Given the description of an element on the screen output the (x, y) to click on. 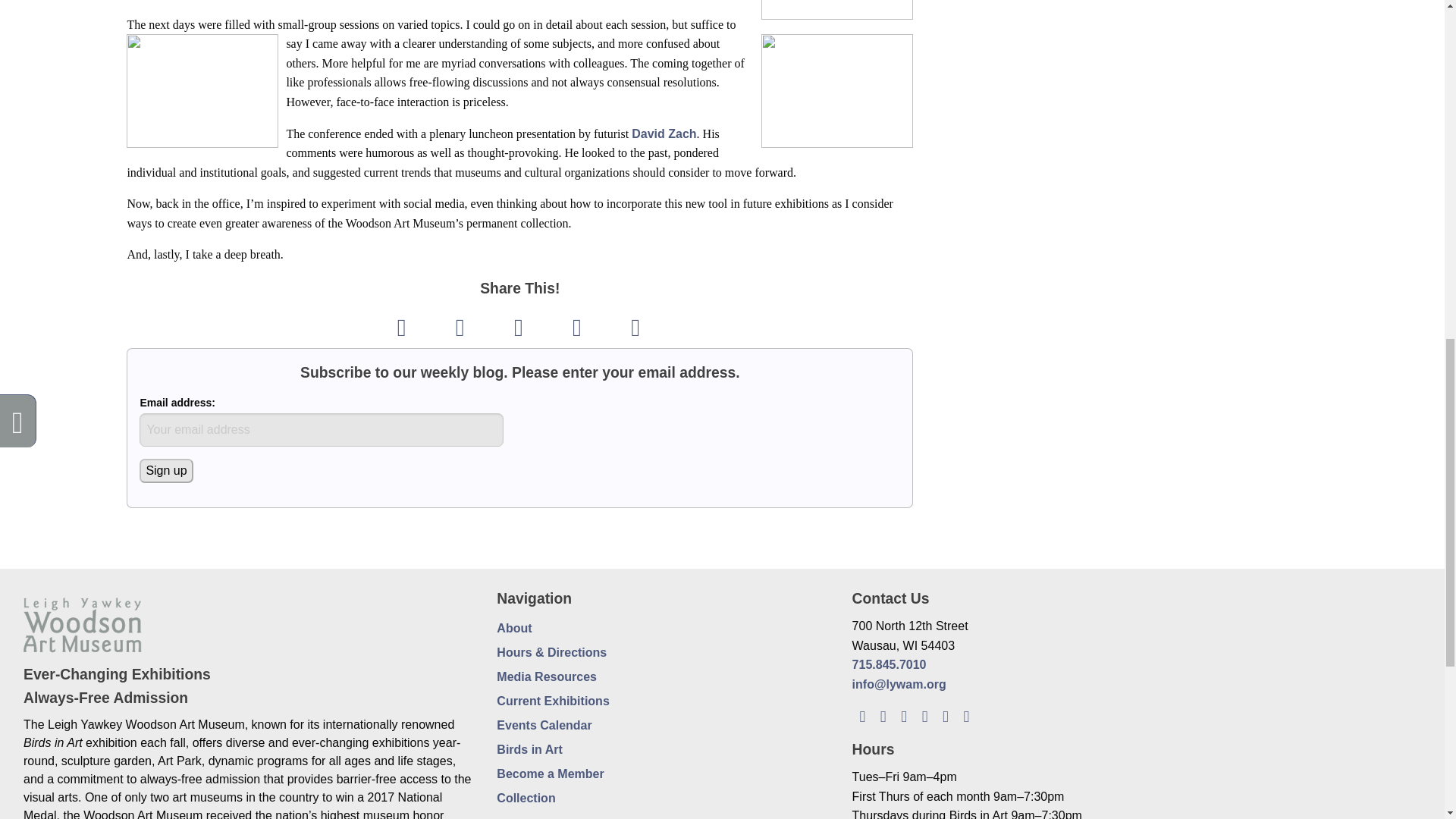
Sign up (165, 470)
Contact Us (966, 715)
Watch Our Videos on YouTube (944, 715)
Woodson Art Museum Blog (861, 715)
Like Us on Facebook (882, 715)
Follow Us on Twitter (903, 715)
Instagram (924, 715)
